Given the description of an element on the screen output the (x, y) to click on. 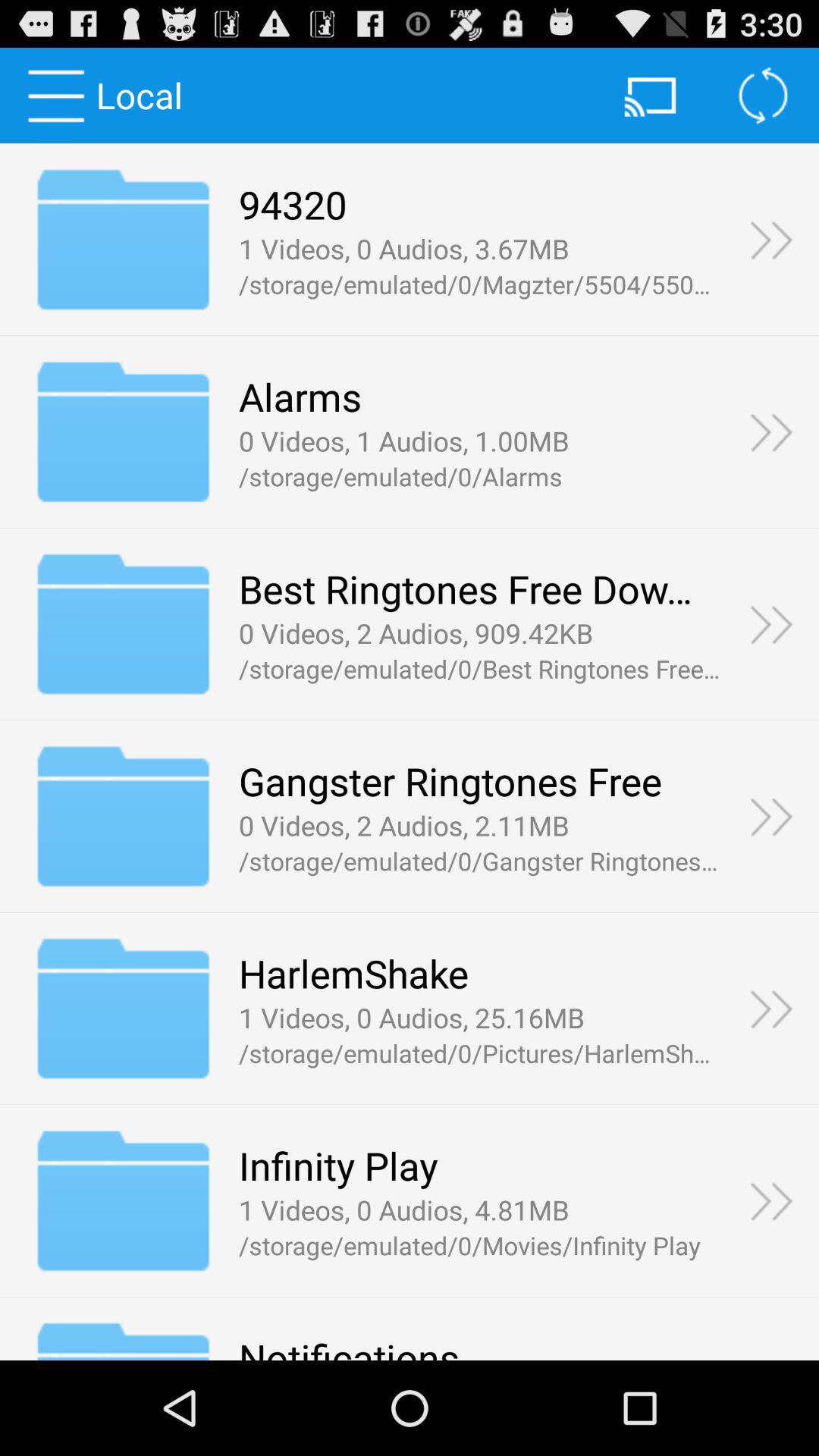
click notifications app (348, 1346)
